Given the description of an element on the screen output the (x, y) to click on. 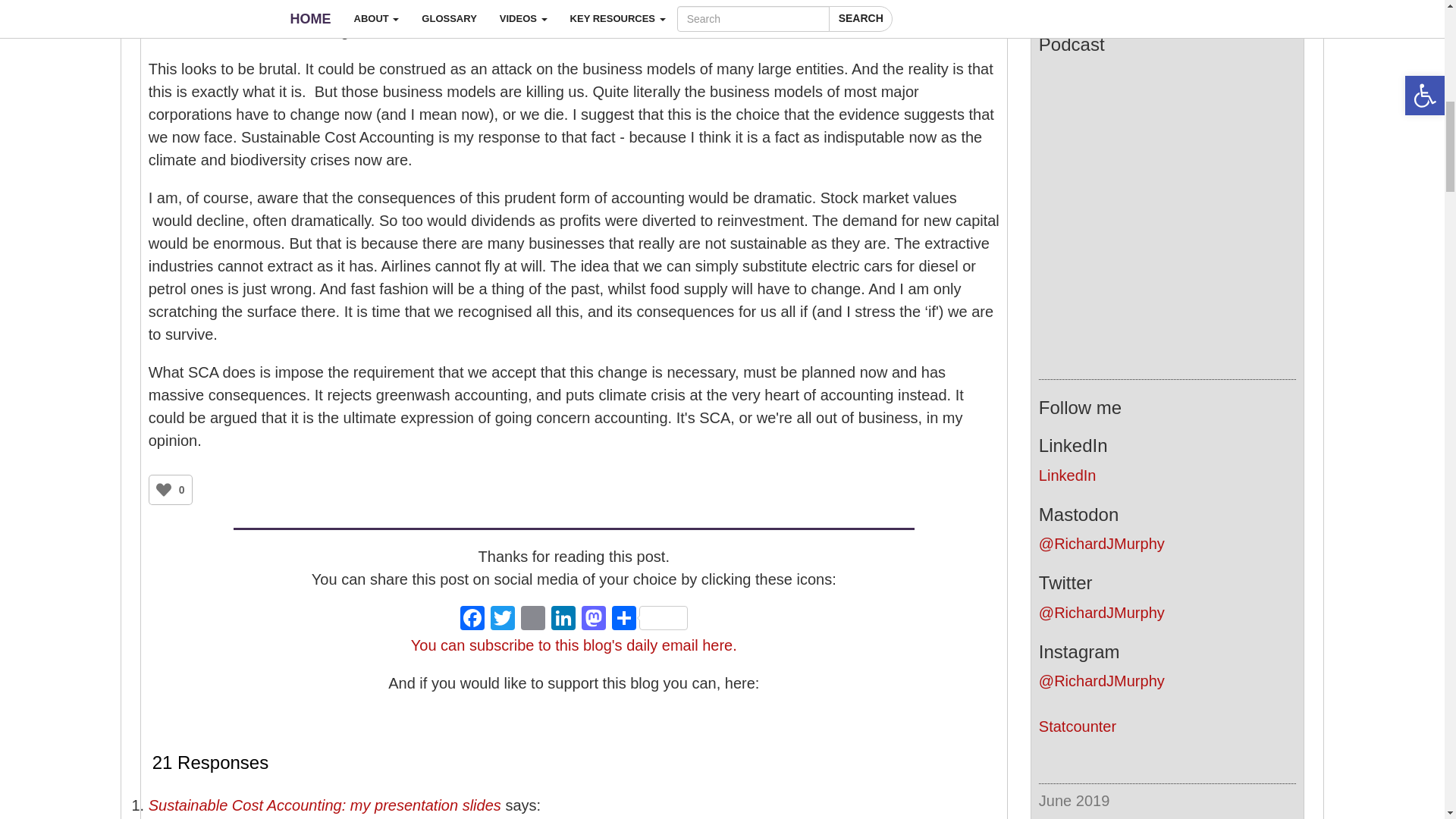
Subscribe (1166, 4)
